Given the description of an element on the screen output the (x, y) to click on. 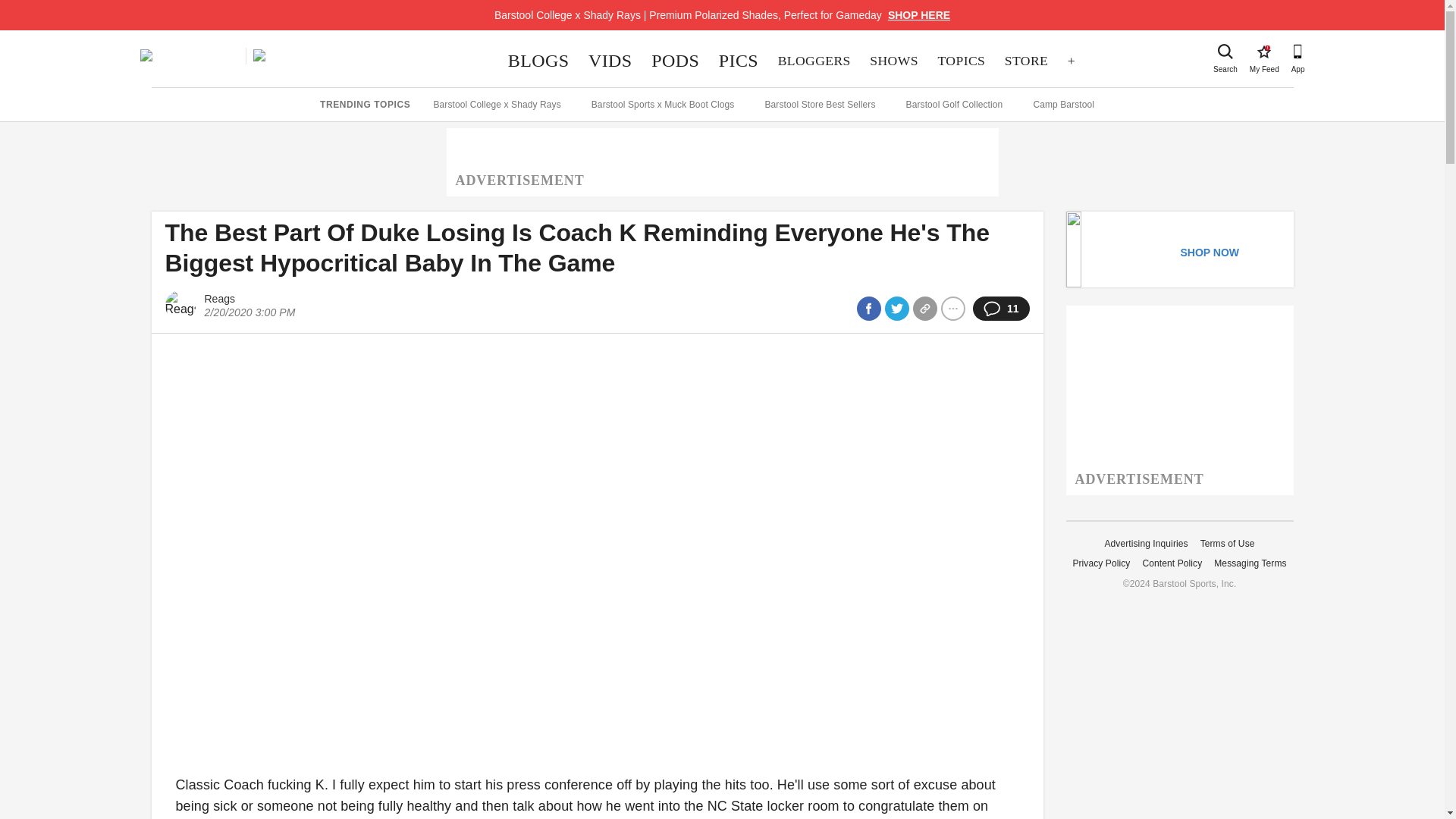
SHOWS (1263, 51)
SHOP HERE (894, 60)
TOPICS (919, 15)
PODS (961, 60)
STORE (675, 60)
VIDS (1026, 60)
PICS (610, 60)
BLOGGERS (738, 60)
Search (814, 60)
